Given the description of an element on the screen output the (x, y) to click on. 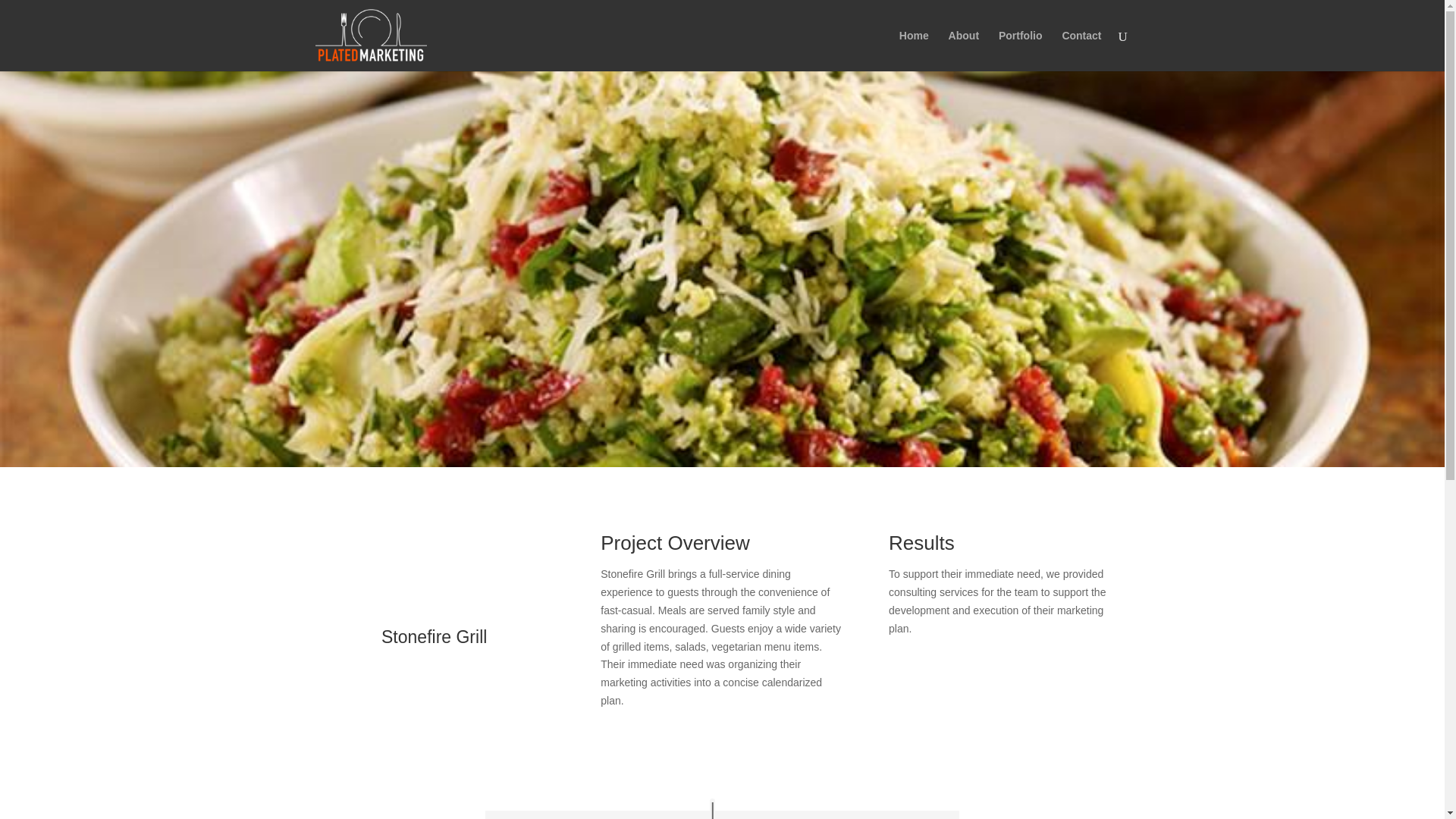
Portfolio (1020, 50)
Contact (1080, 50)
